Given the description of an element on the screen output the (x, y) to click on. 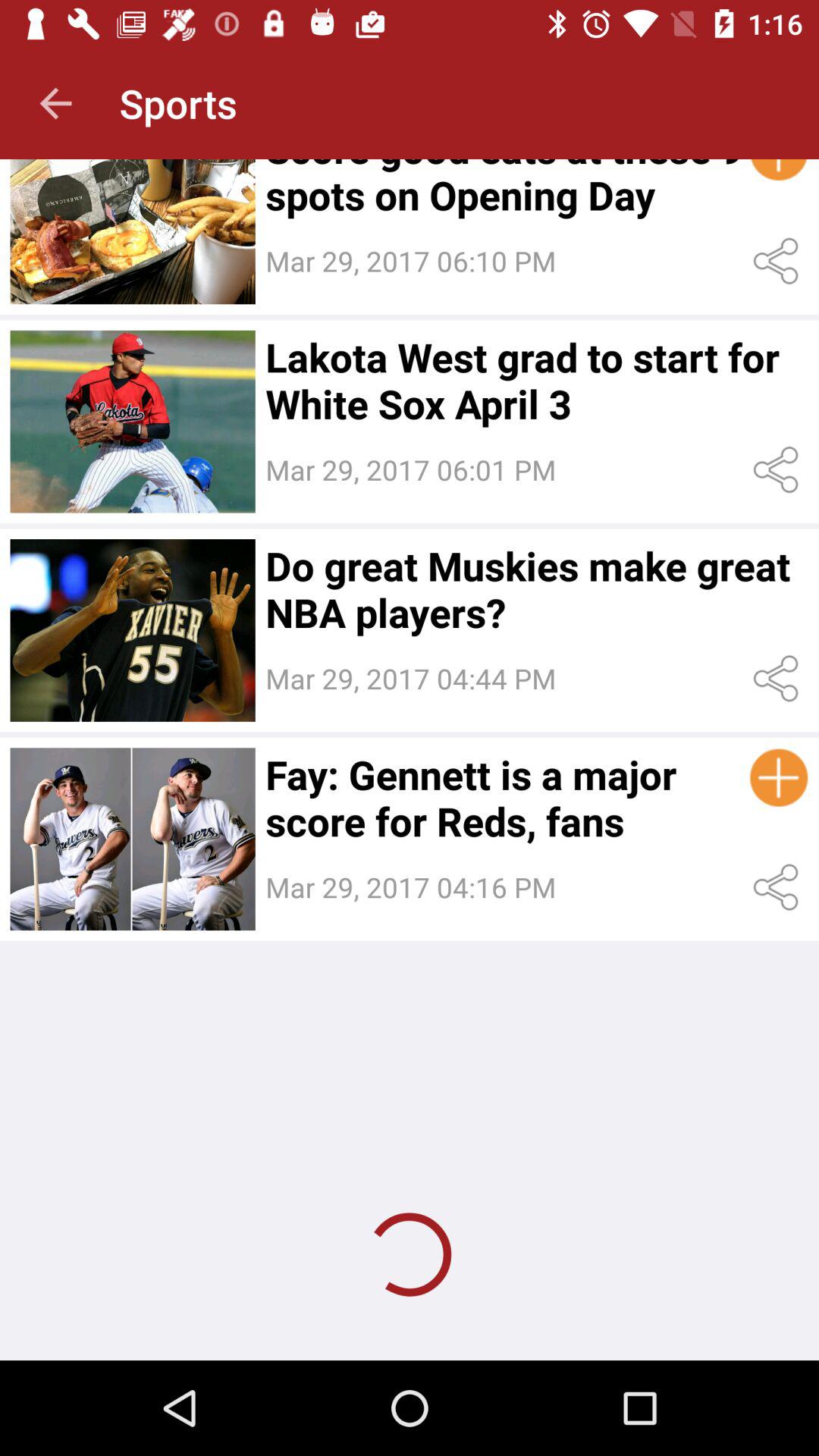
share story (778, 469)
